Given the description of an element on the screen output the (x, y) to click on. 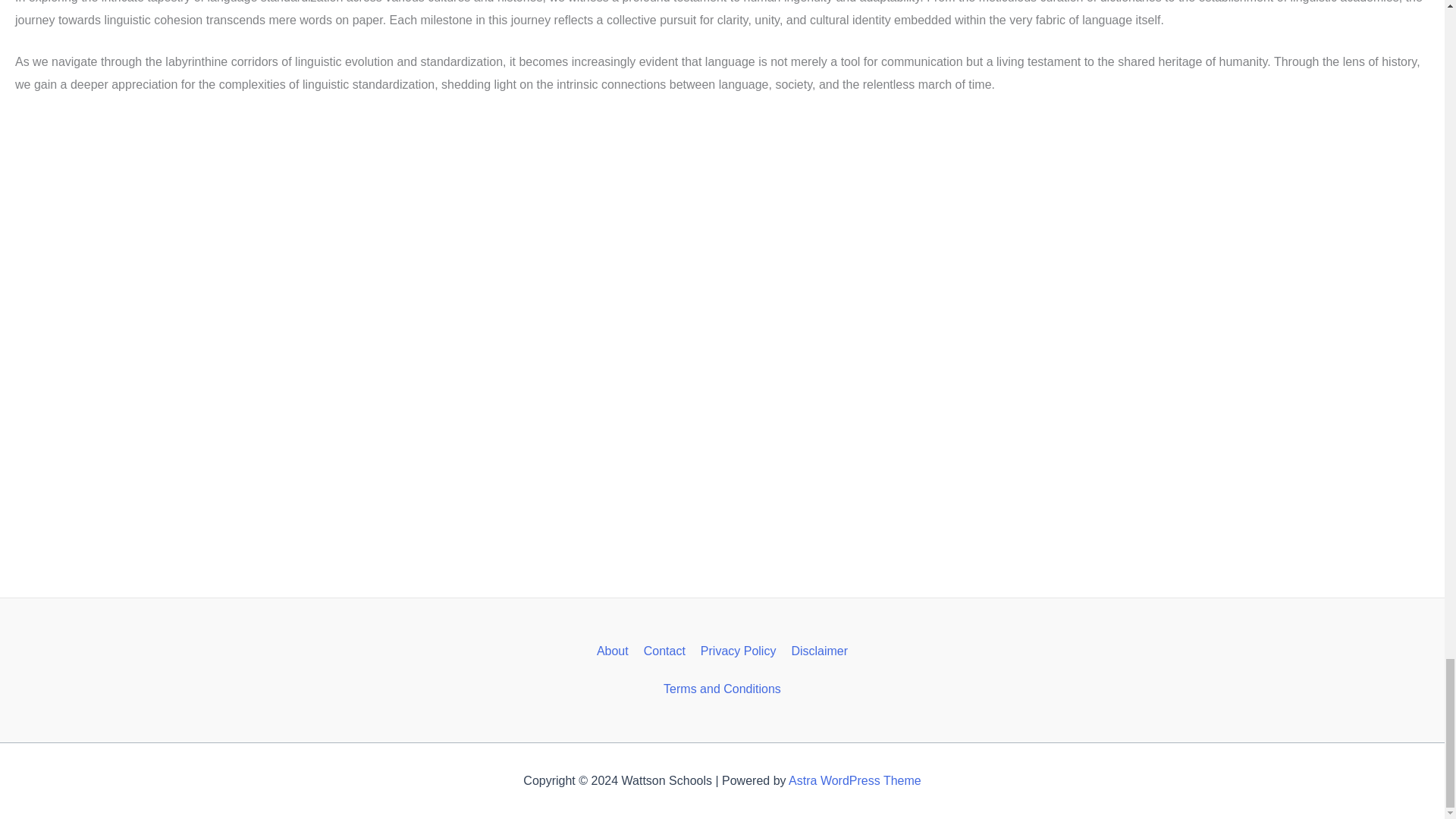
Terms and Conditions (722, 689)
Disclaimer (819, 651)
Contact (664, 651)
Astra WordPress Theme (855, 780)
Privacy Policy (738, 651)
About (612, 651)
